Given the description of an element on the screen output the (x, y) to click on. 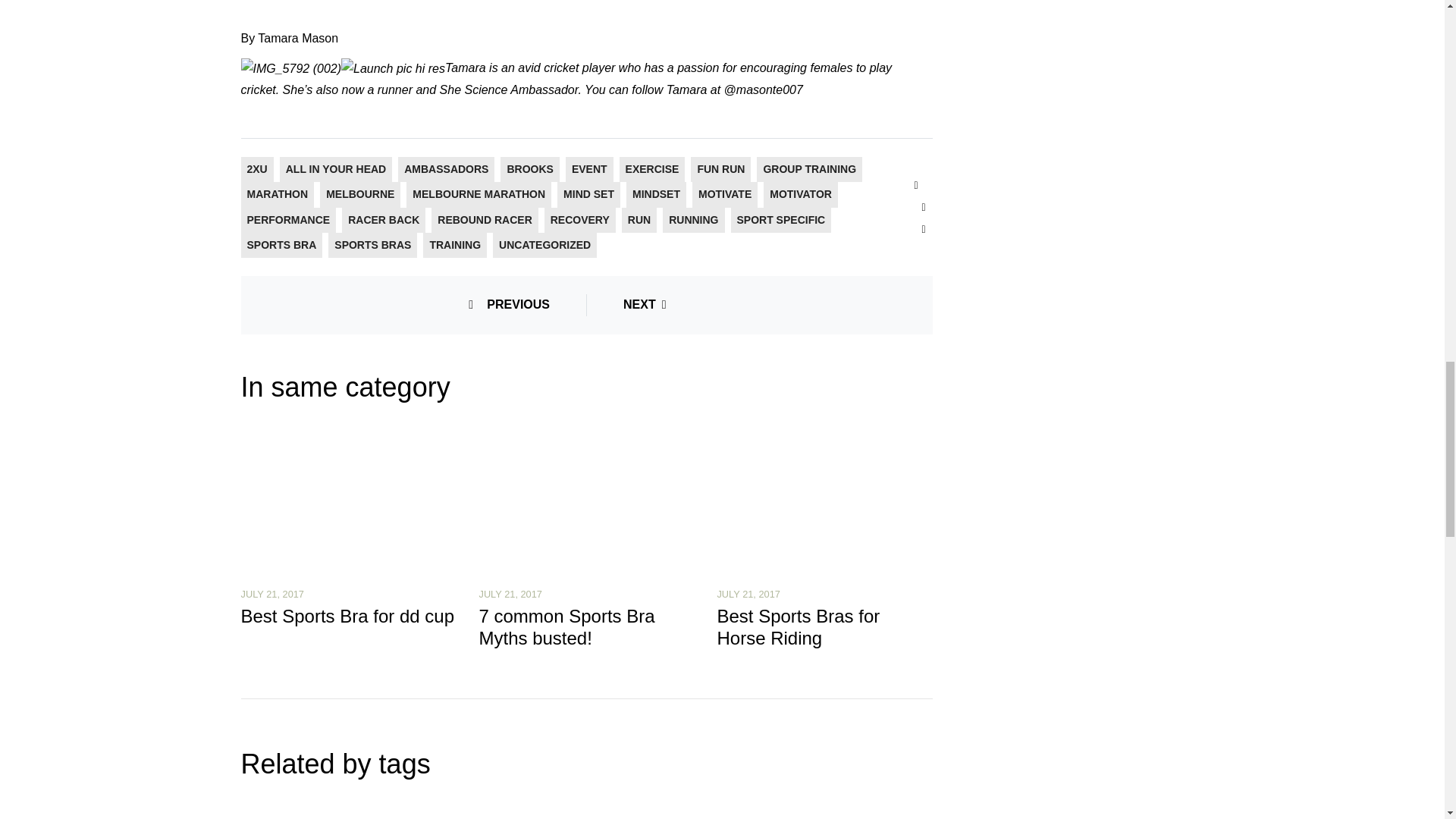
Show articles tagged marathon (277, 193)
Show articles tagged Melbourne Marathon (478, 193)
Show articles tagged mindset (655, 193)
Show articles tagged group training (809, 168)
Show articles tagged fun run (720, 168)
Show articles tagged Melbourne (360, 193)
Show articles tagged mind set (588, 193)
Show articles tagged Ambassadors (445, 168)
Show articles tagged event (589, 168)
Show articles tagged 2xu (257, 168)
